Given the description of an element on the screen output the (x, y) to click on. 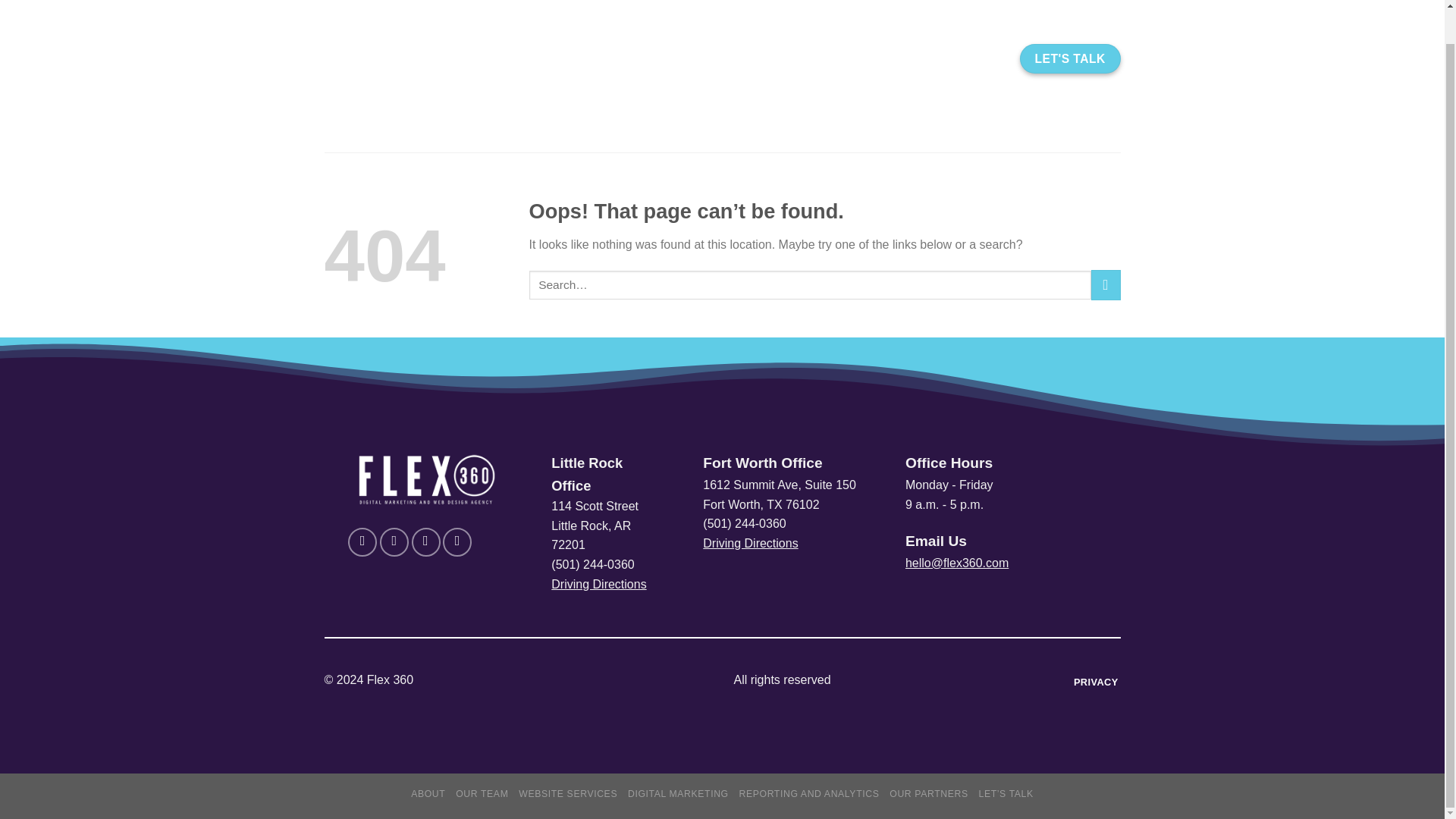
ABOUT (427, 793)
Follow on LinkedIn (456, 541)
OUR PARTNERS (928, 793)
Follow on TikTok (426, 541)
ABOUT (657, 58)
OUR PARTNERS (852, 58)
FLEX 360 (451, 58)
OUR TEAM (481, 793)
OUR TEAM (963, 58)
SERVICES (739, 58)
Follow on Instagram (394, 541)
REPORTING AND ANALYTICS (809, 793)
PRIVACY (1095, 682)
DIGITAL MARKETING (678, 793)
WEBSITE SERVICES (567, 793)
